Given the description of an element on the screen output the (x, y) to click on. 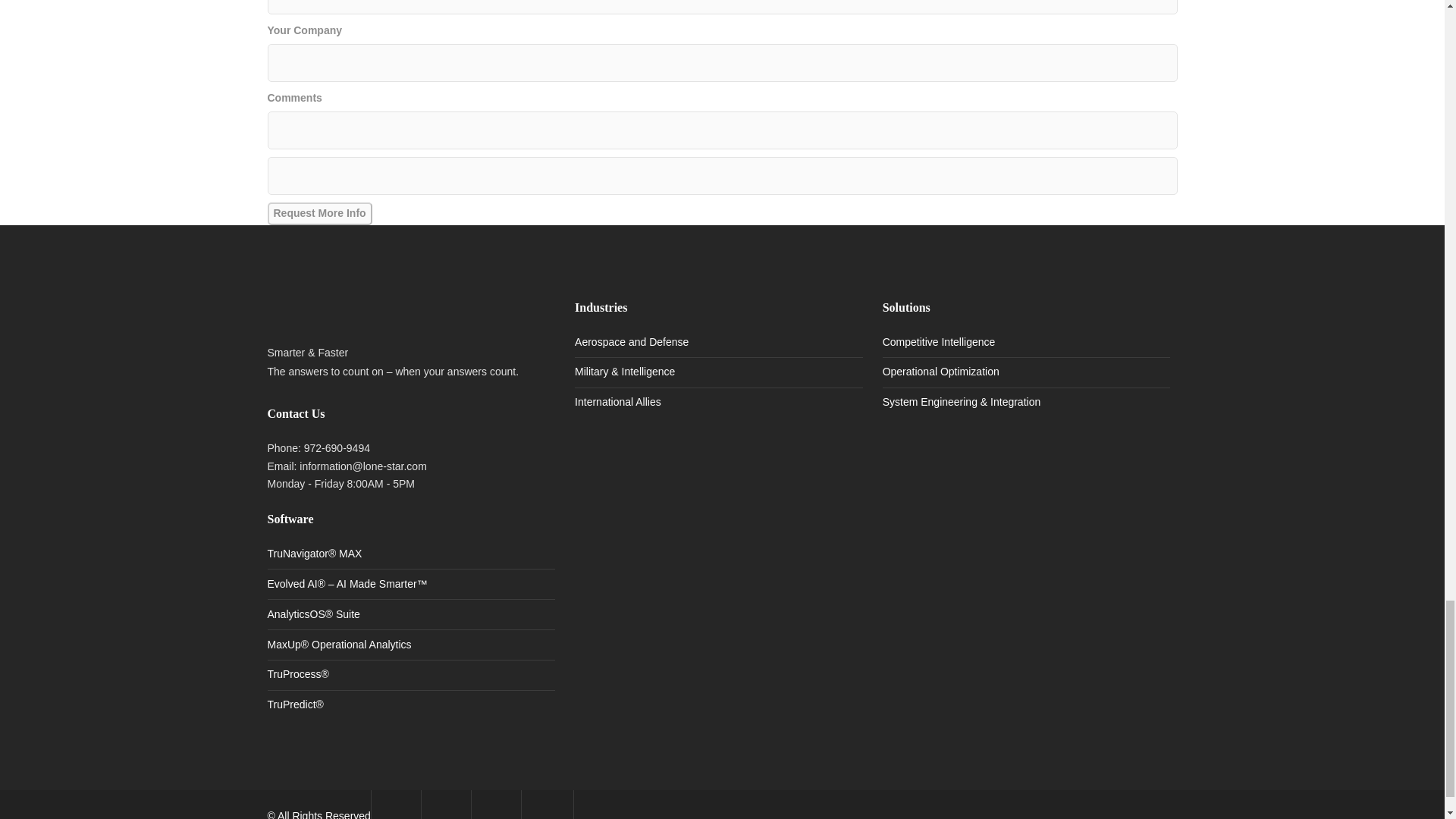
Request More Info (318, 213)
